Given the description of an element on the screen output the (x, y) to click on. 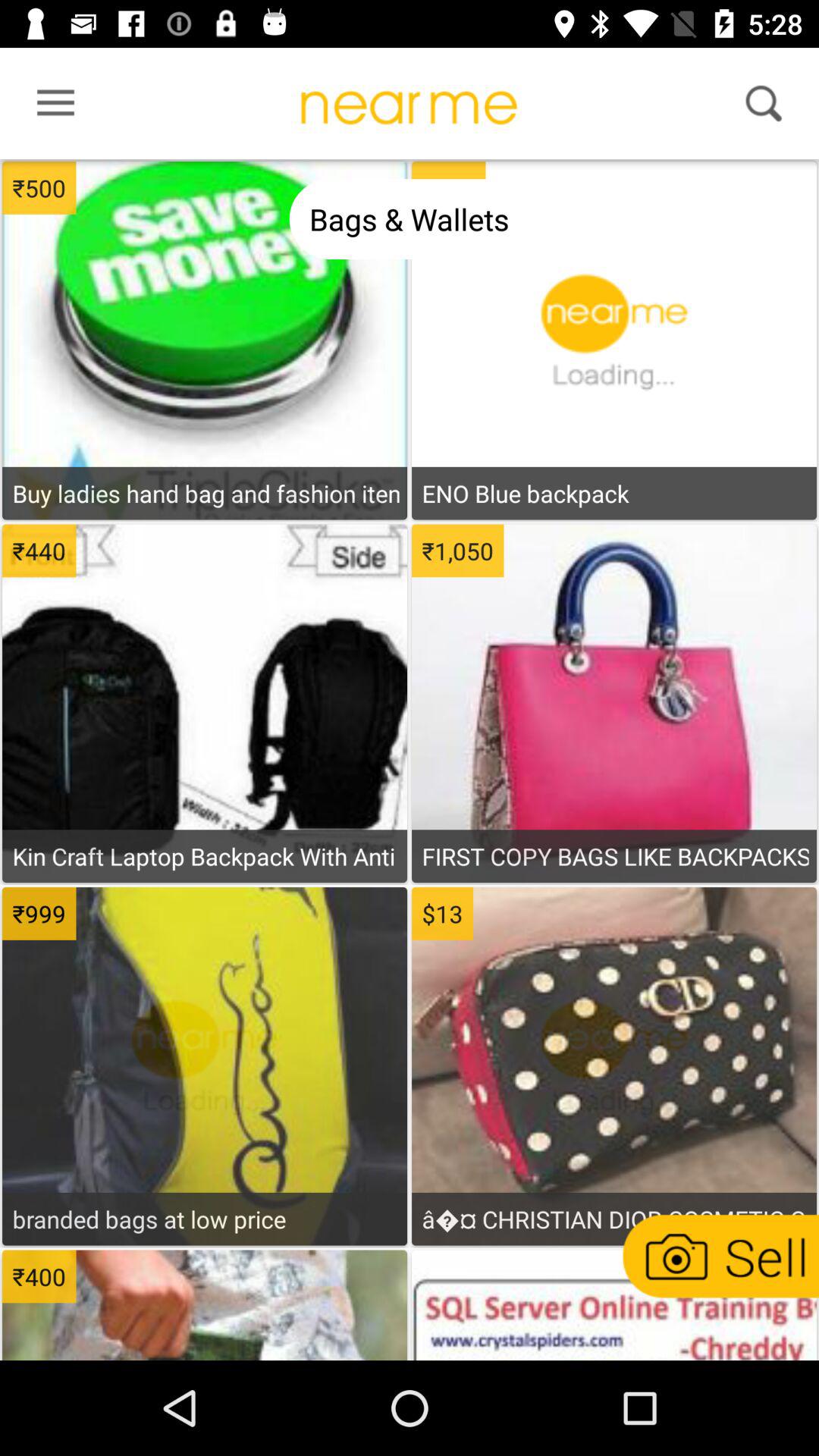
go to advertisements website (613, 1307)
